Given the description of an element on the screen output the (x, y) to click on. 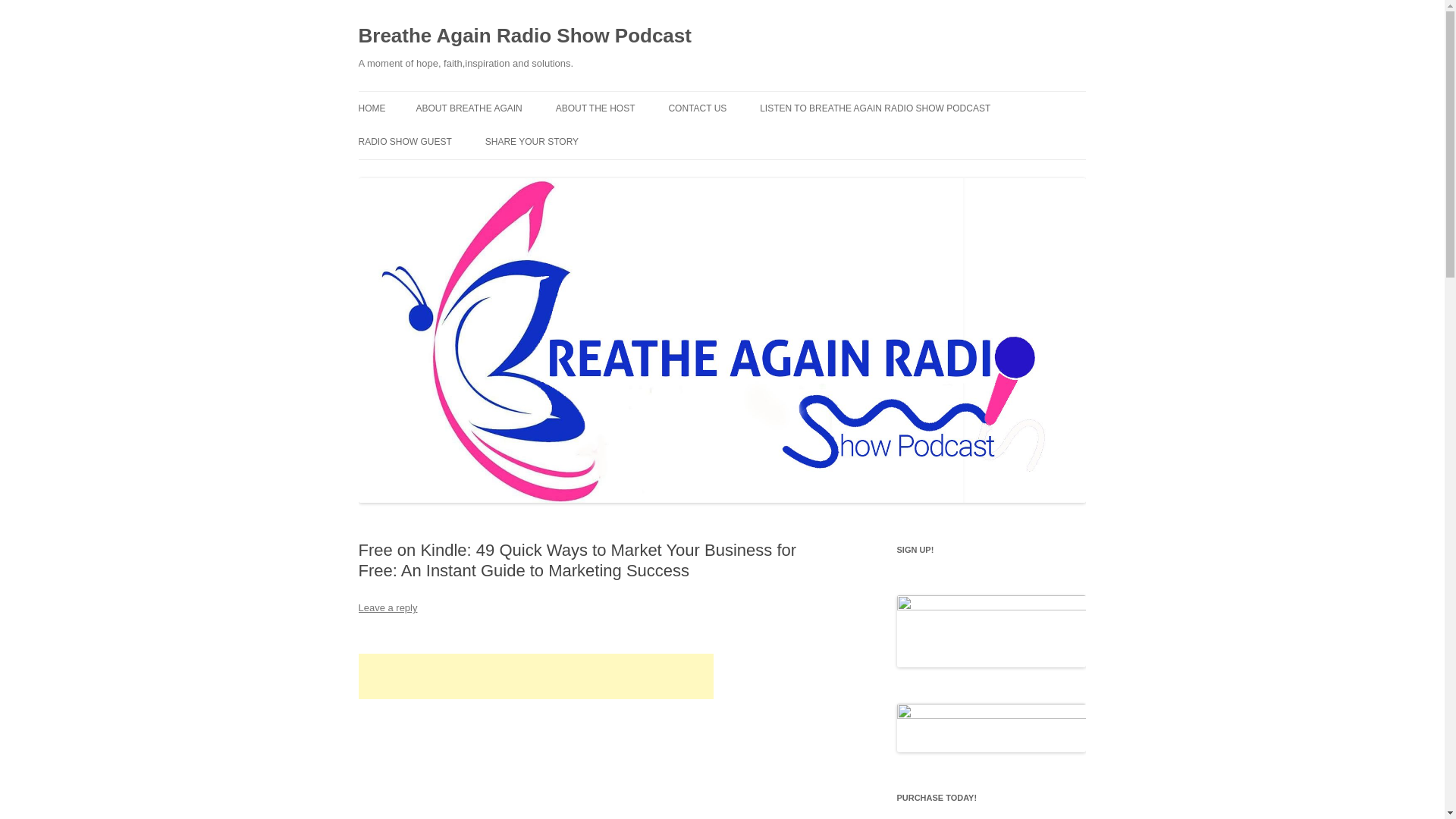
Leave a reply (387, 607)
ABOUT THE HOST (595, 108)
Breathe Again Radio Show Podcast (524, 36)
ABOUT BREATHE AGAIN (467, 108)
CONTACT US (697, 108)
LISTEN TO BREATHE AGAIN RADIO SHOW PODCAST (875, 108)
RADIO SHOW GUEST (404, 141)
SHARE YOUR STORY (531, 141)
